Given the description of an element on the screen output the (x, y) to click on. 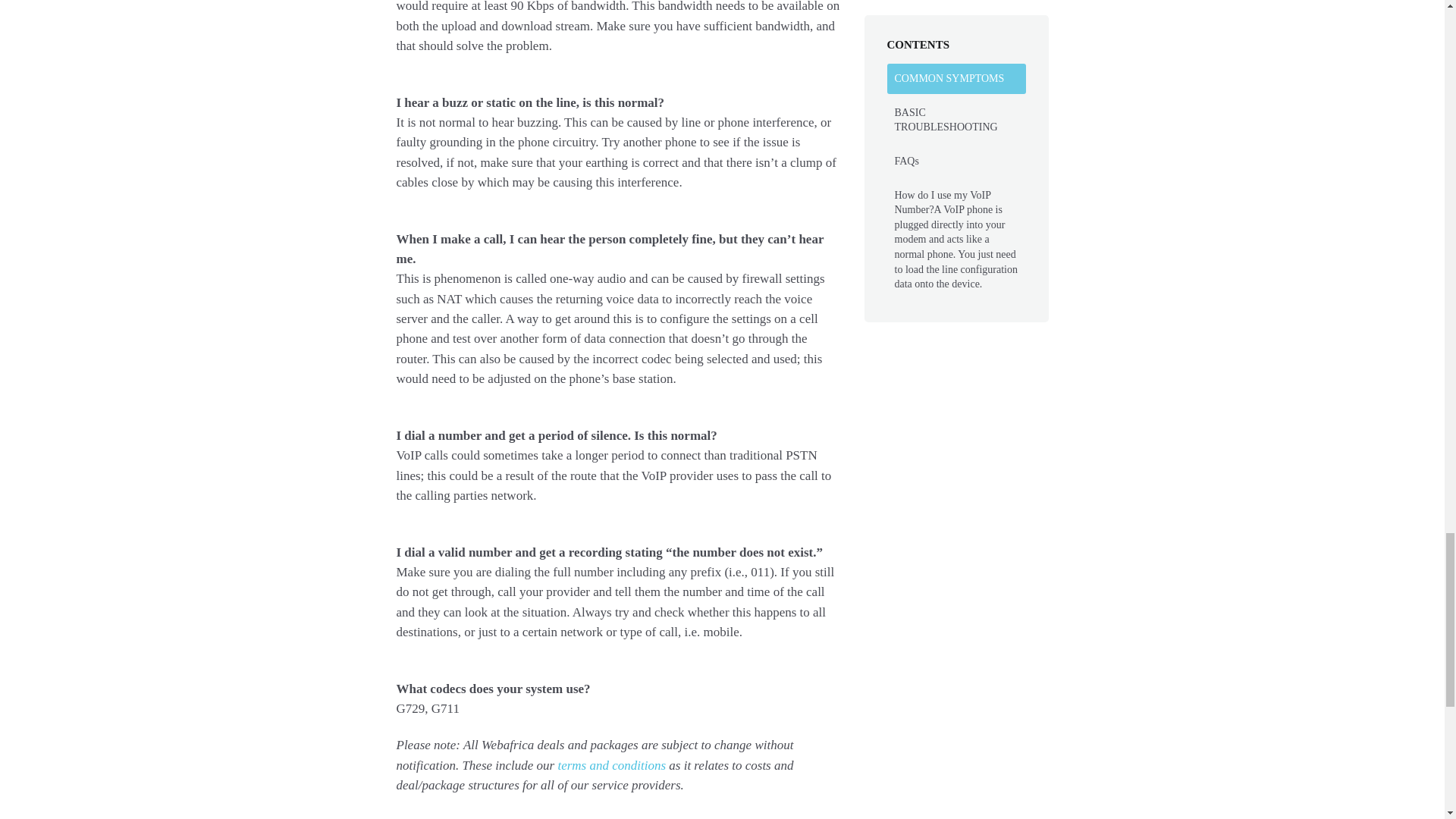
terms and conditions (611, 765)
